Given the description of an element on the screen output the (x, y) to click on. 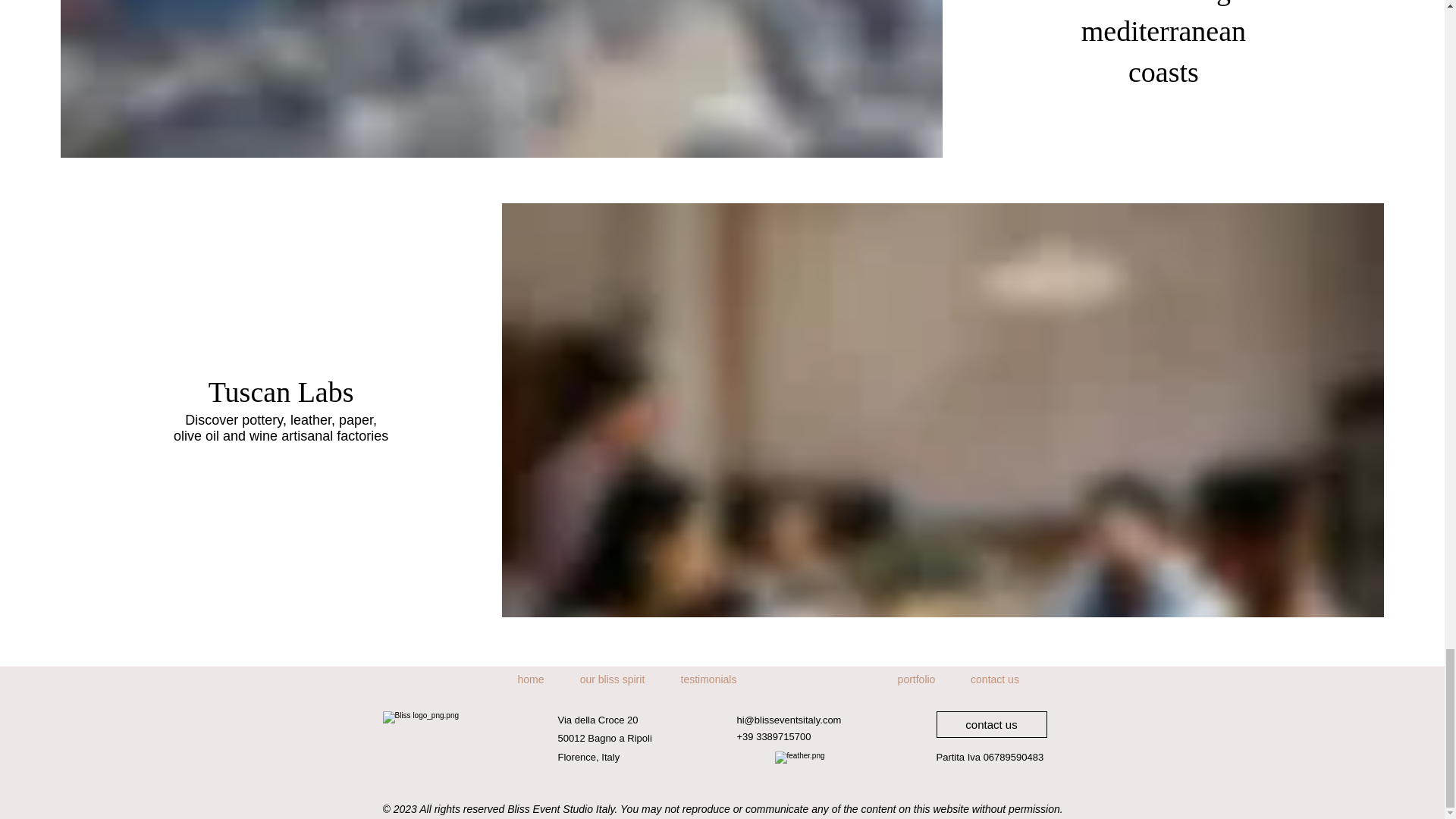
portfolio (915, 679)
home (531, 679)
testimonials (708, 679)
our bliss spirit (611, 679)
